Given the description of an element on the screen output the (x, y) to click on. 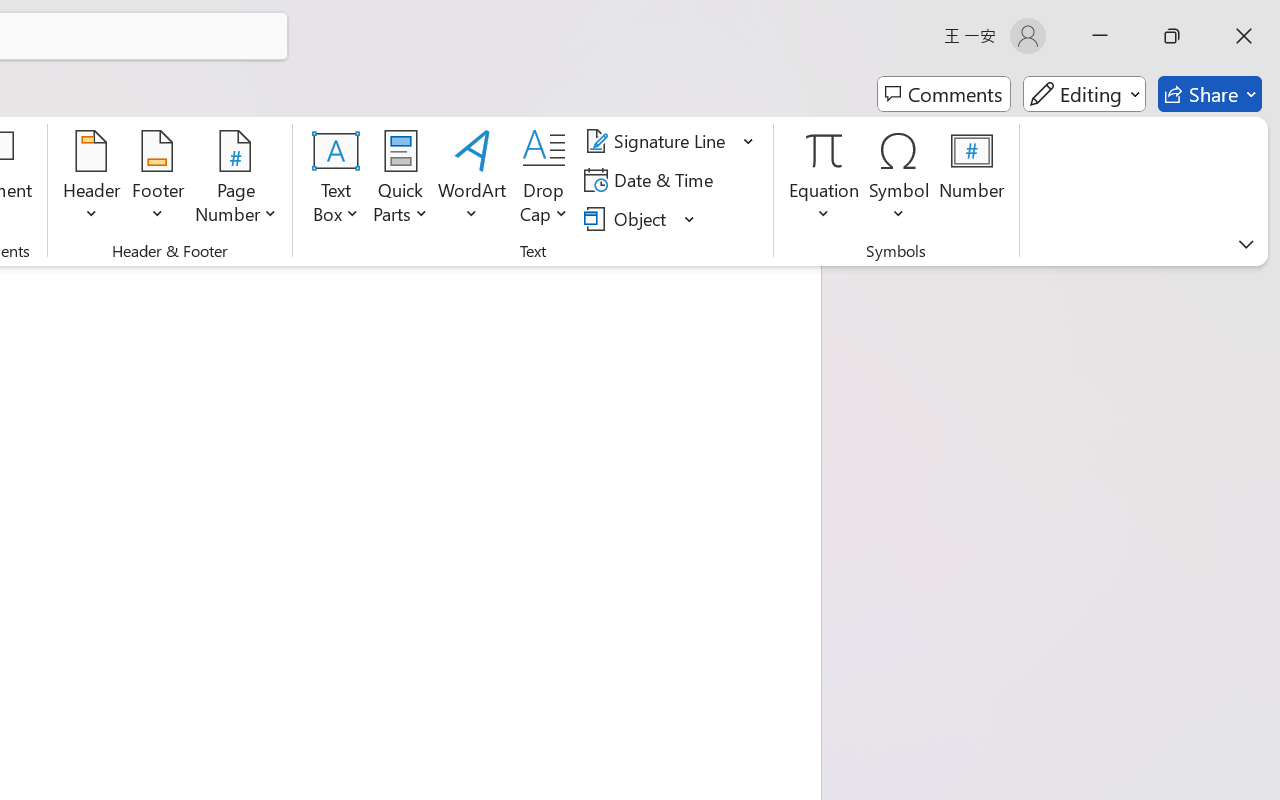
Minimize (1099, 36)
Share (1210, 94)
Mode (1083, 94)
Comments (943, 94)
Restore Down (1172, 36)
Close (1244, 36)
